Given the description of an element on the screen output the (x, y) to click on. 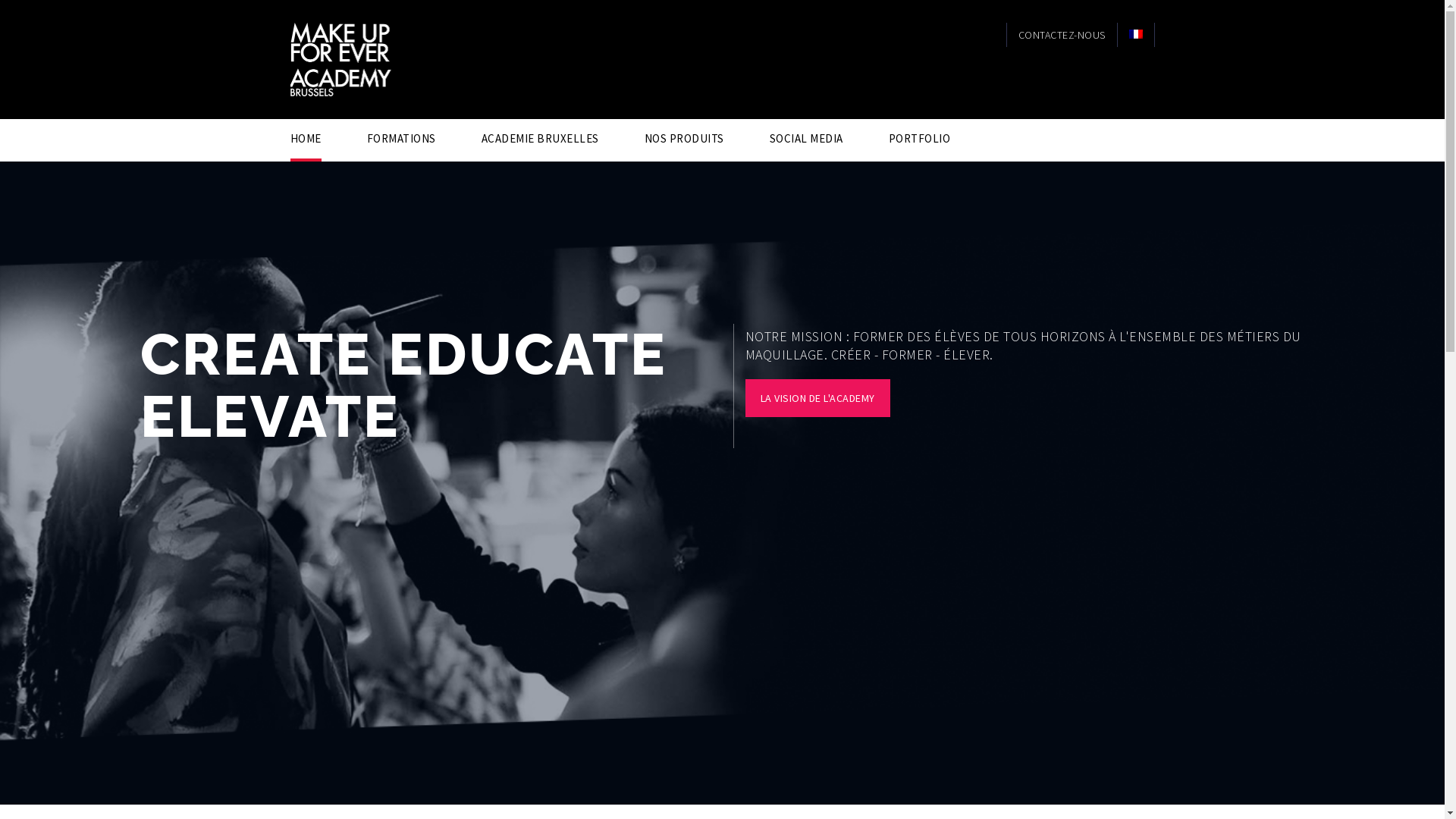
CONTACTEZ-NOUS Element type: text (1062, 34)
MAKE UP FOR EVER Academy Brussels Element type: hover (389, 58)
HOME Element type: text (304, 137)
CREATE EDUCATE ELEVATE Element type: text (403, 384)
SOCIAL MEDIA Element type: text (805, 137)
ACADEMIE BRUXELLES Element type: text (539, 137)
LA VISION DE L'ACADEMY Element type: text (816, 398)
FORMATIONS Element type: text (401, 137)
NOS PRODUITS Element type: text (684, 137)
PORTFOLIO Element type: text (919, 137)
